Given the description of an element on the screen output the (x, y) to click on. 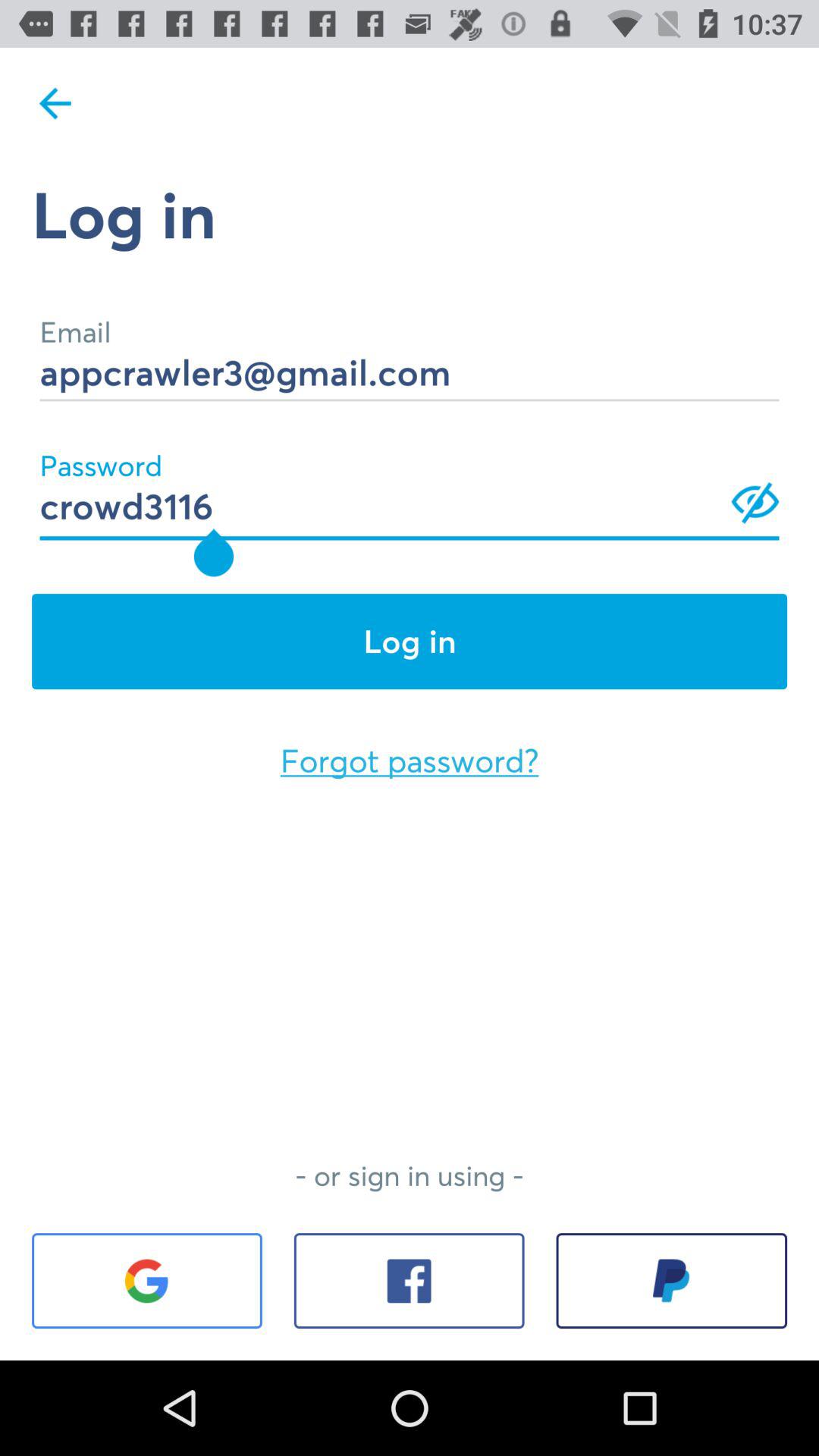
launch the icon above the log in item (409, 484)
